Given the description of an element on the screen output the (x, y) to click on. 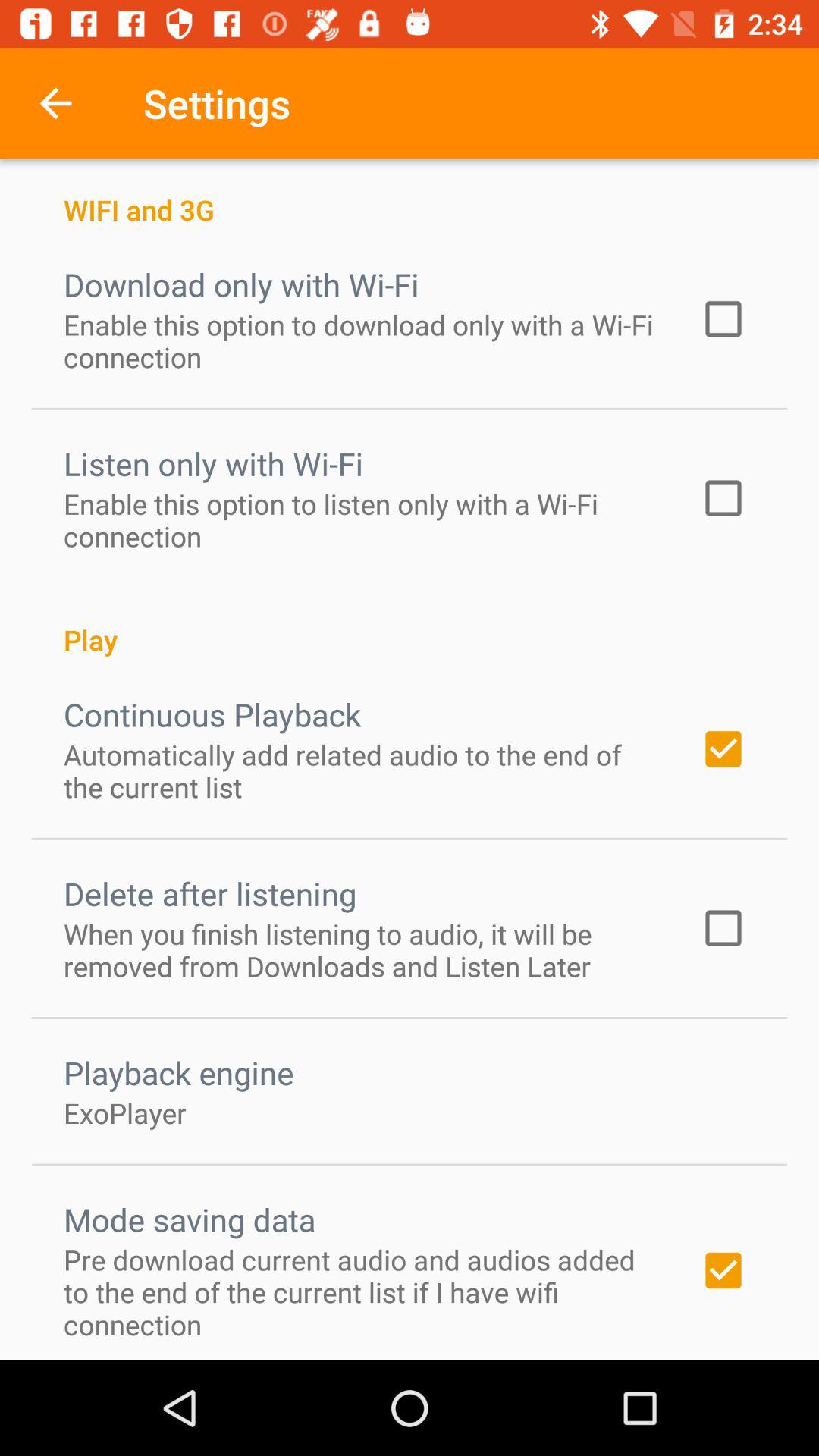
click the item next to the settings icon (55, 103)
